Given the description of an element on the screen output the (x, y) to click on. 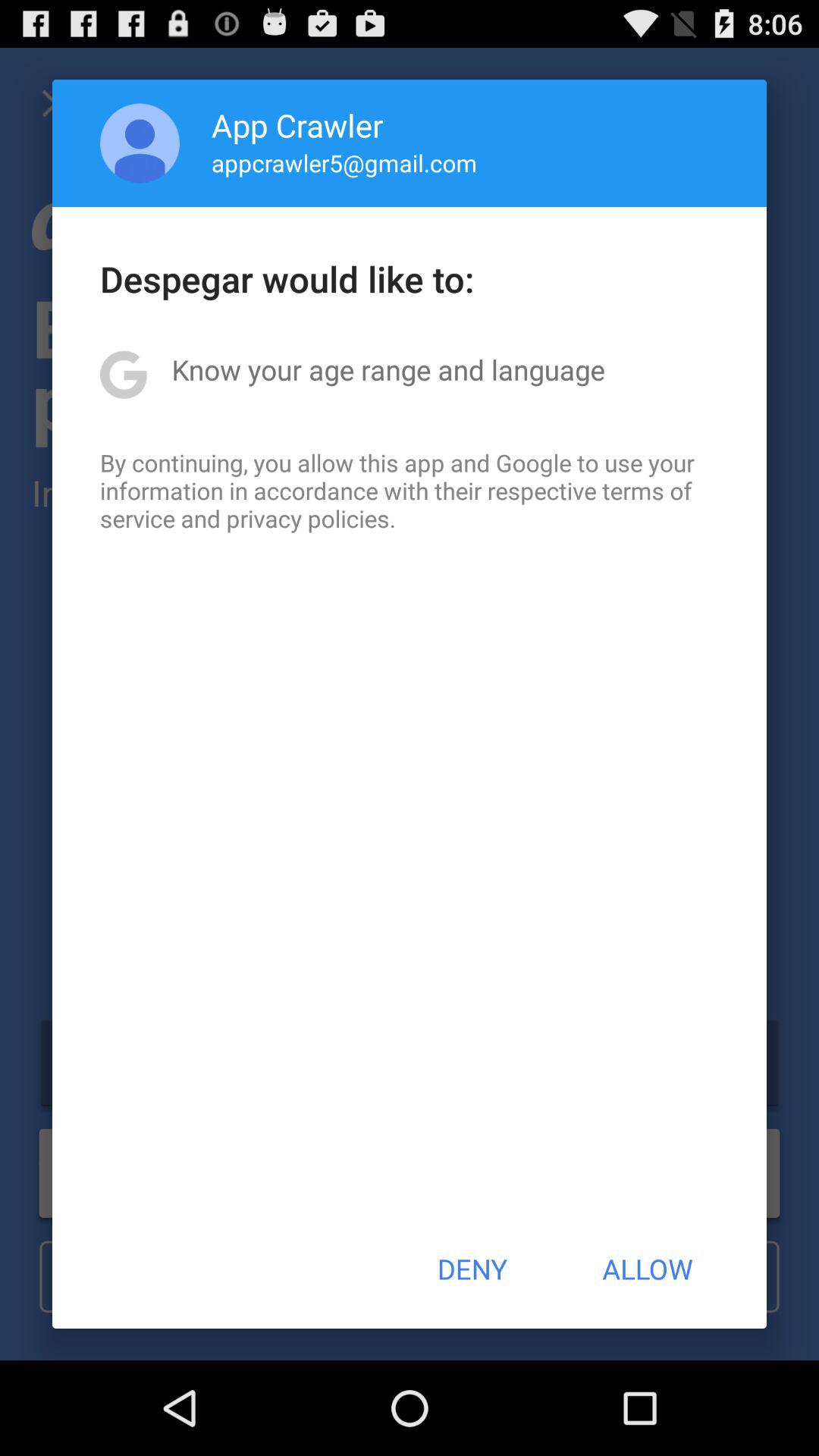
press item at the bottom (471, 1268)
